Given the description of an element on the screen output the (x, y) to click on. 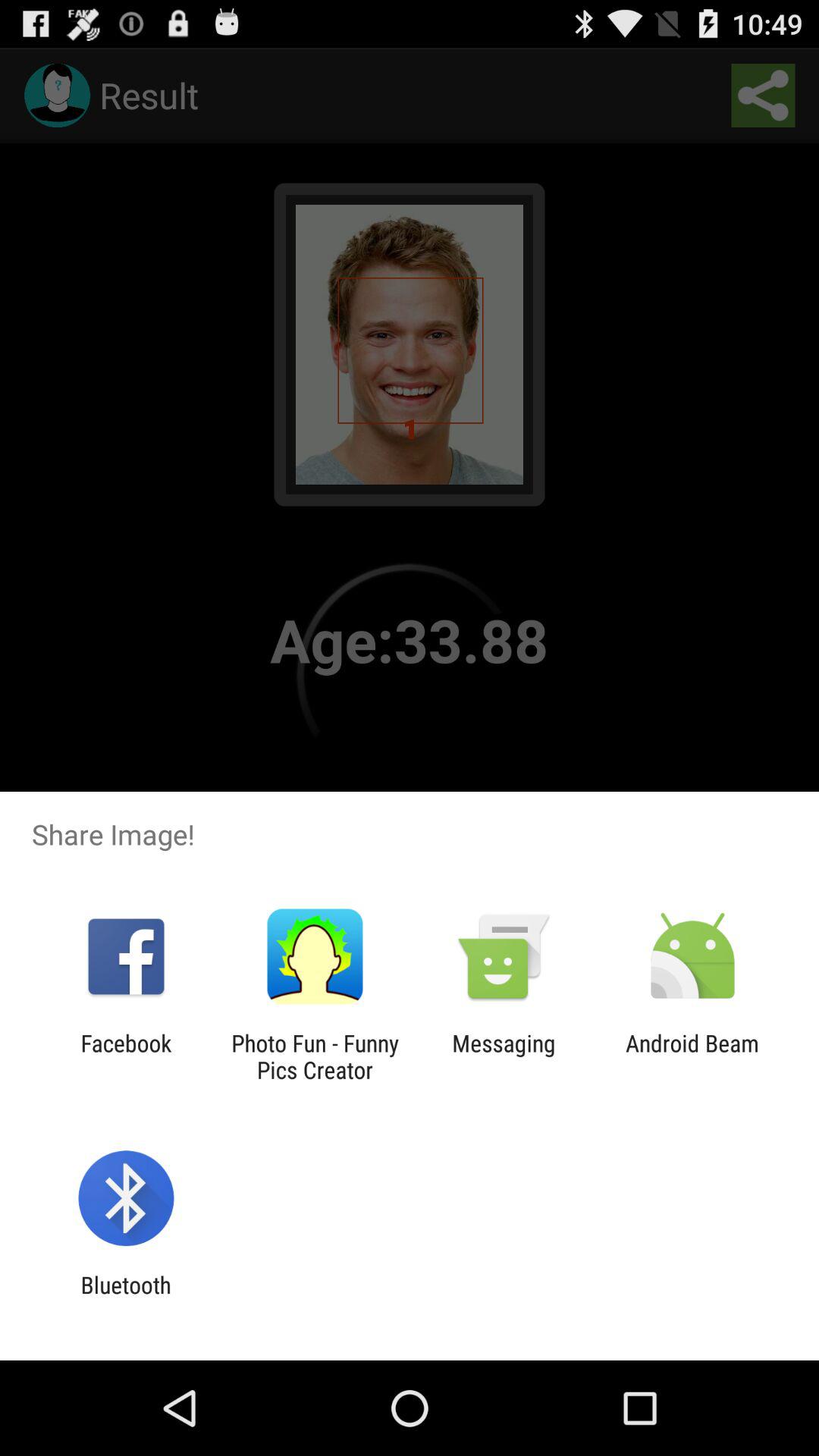
press item next to android beam item (503, 1056)
